Given the description of an element on the screen output the (x, y) to click on. 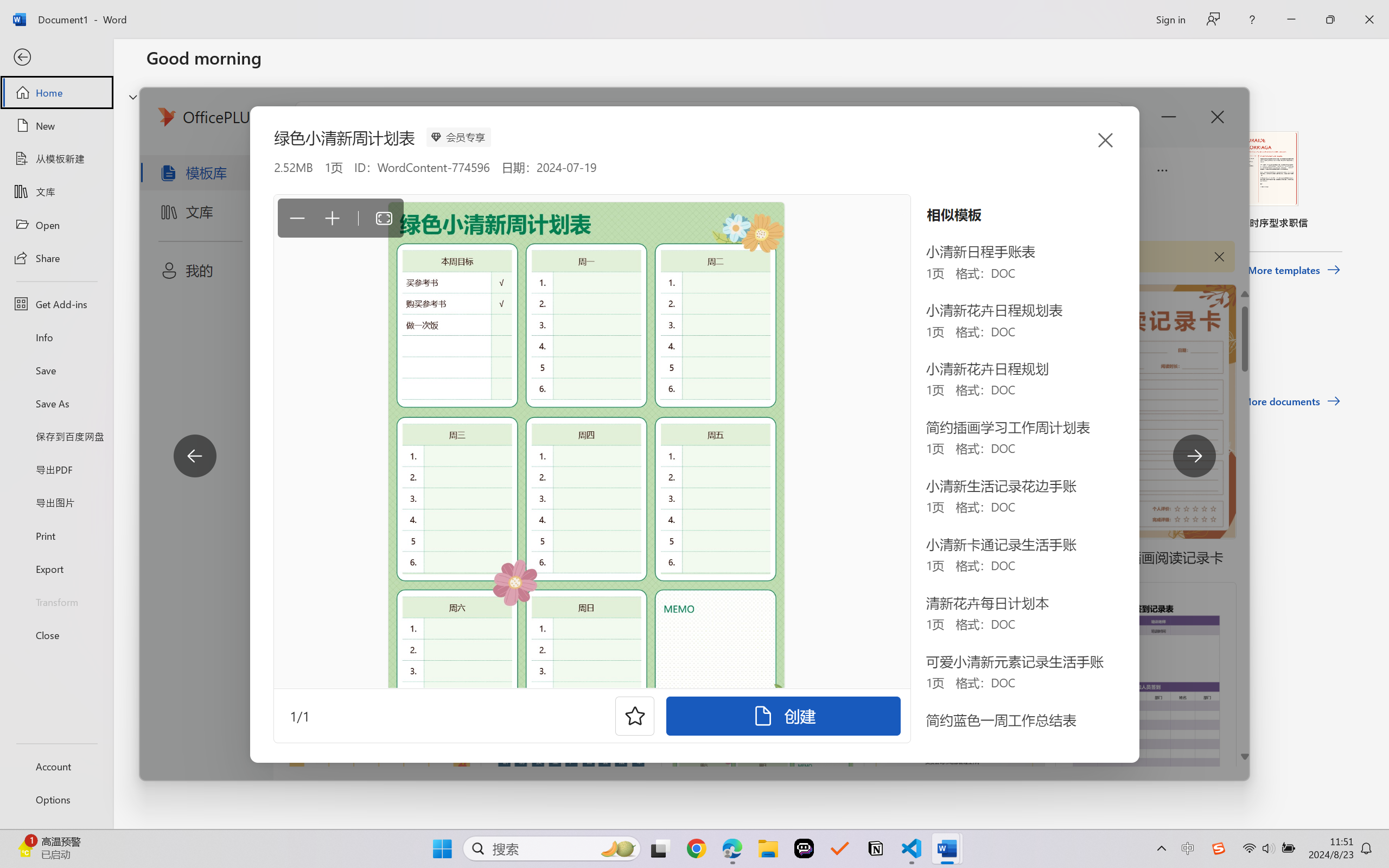
Export (56, 568)
Pinned (226, 345)
Recent (171, 345)
Account (56, 765)
